Given the description of an element on the screen output the (x, y) to click on. 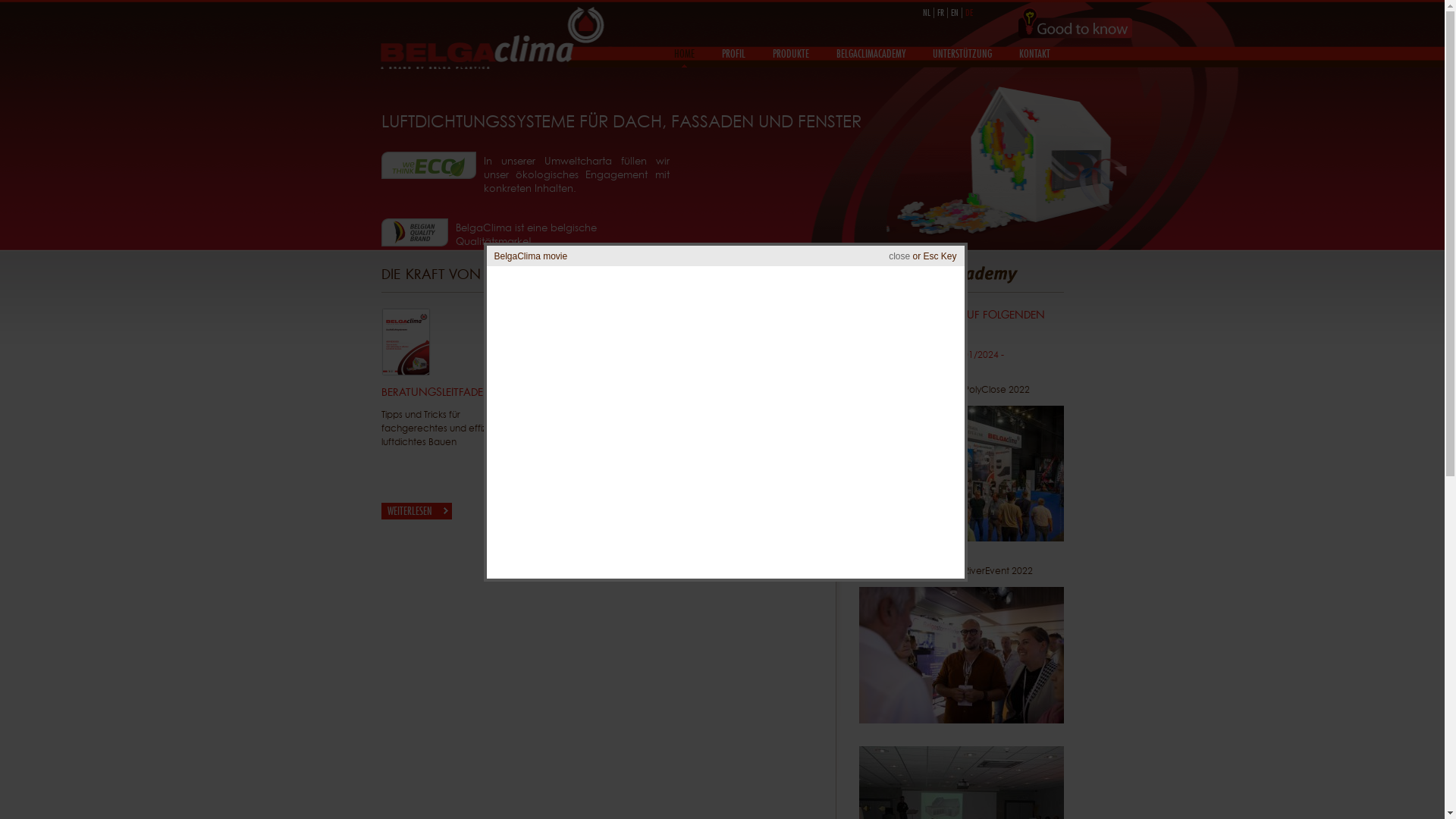
WEITERLESEN Element type: text (565, 510)
> Baufachmann Element type: text (714, 459)
NL Element type: text (925, 12)
PRODUKTE Element type: text (790, 53)
EN Element type: text (954, 12)
Polyclose - 17-18-19/01/2024 - Gent/Flanders Expo Element type: text (937, 360)
Beratungsleitfaden Element type: hover (404, 372)
HOME Element type: text (683, 53)
DE Element type: text (968, 12)
KONTAKT Element type: text (1034, 53)
PROFIL Element type: text (733, 53)
WEITERLESEN Element type: text (415, 510)
close Element type: text (899, 256)
BELGACLIMACADEMY Element type: text (870, 53)
> Architekt Element type: text (702, 413)
SUPPORT Element type: hover (596, 372)
FR Element type: text (940, 12)
